Given the description of an element on the screen output the (x, y) to click on. 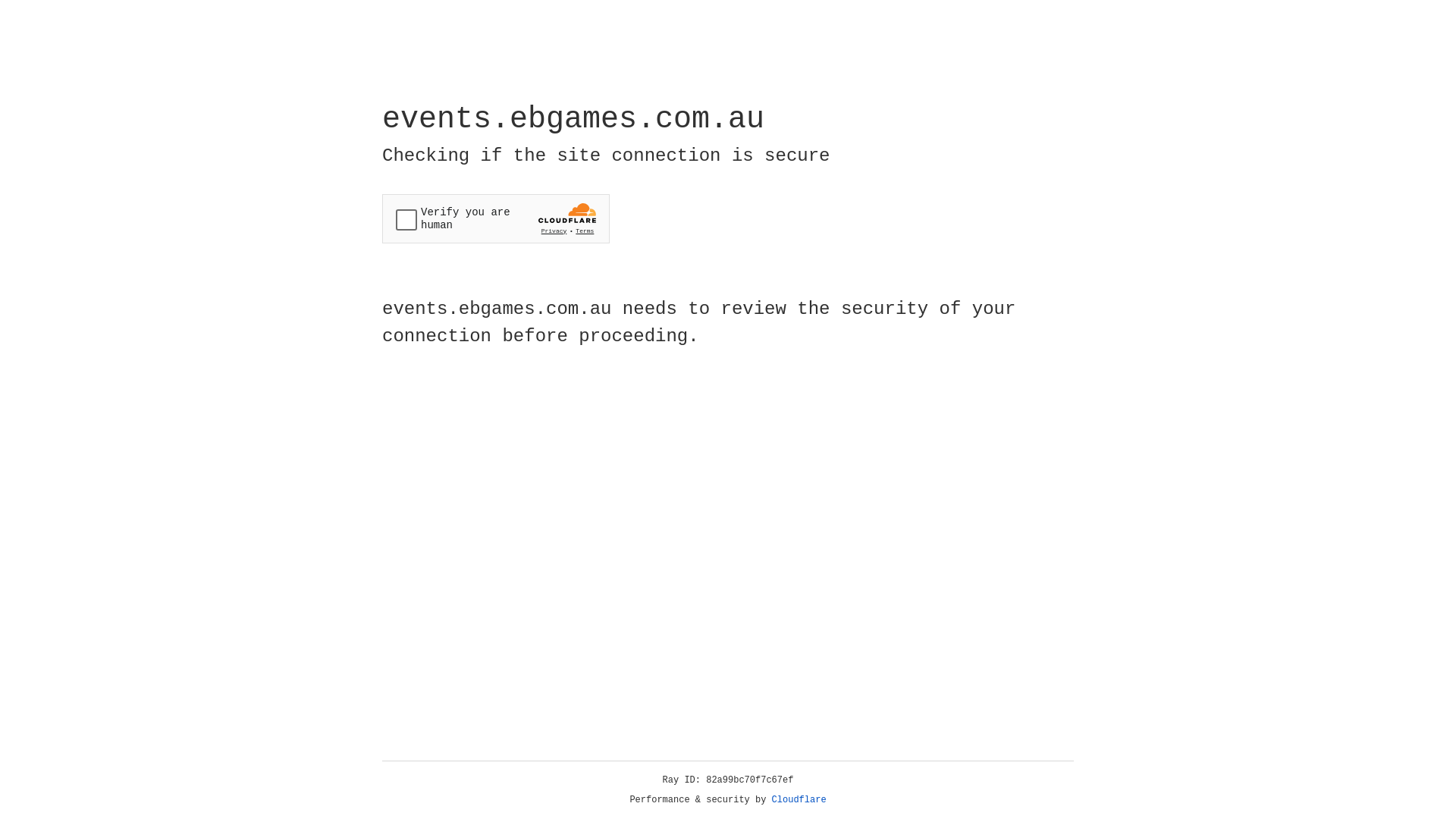
Widget containing a Cloudflare security challenge Element type: hover (495, 218)
Cloudflare Element type: text (798, 799)
